Given the description of an element on the screen output the (x, y) to click on. 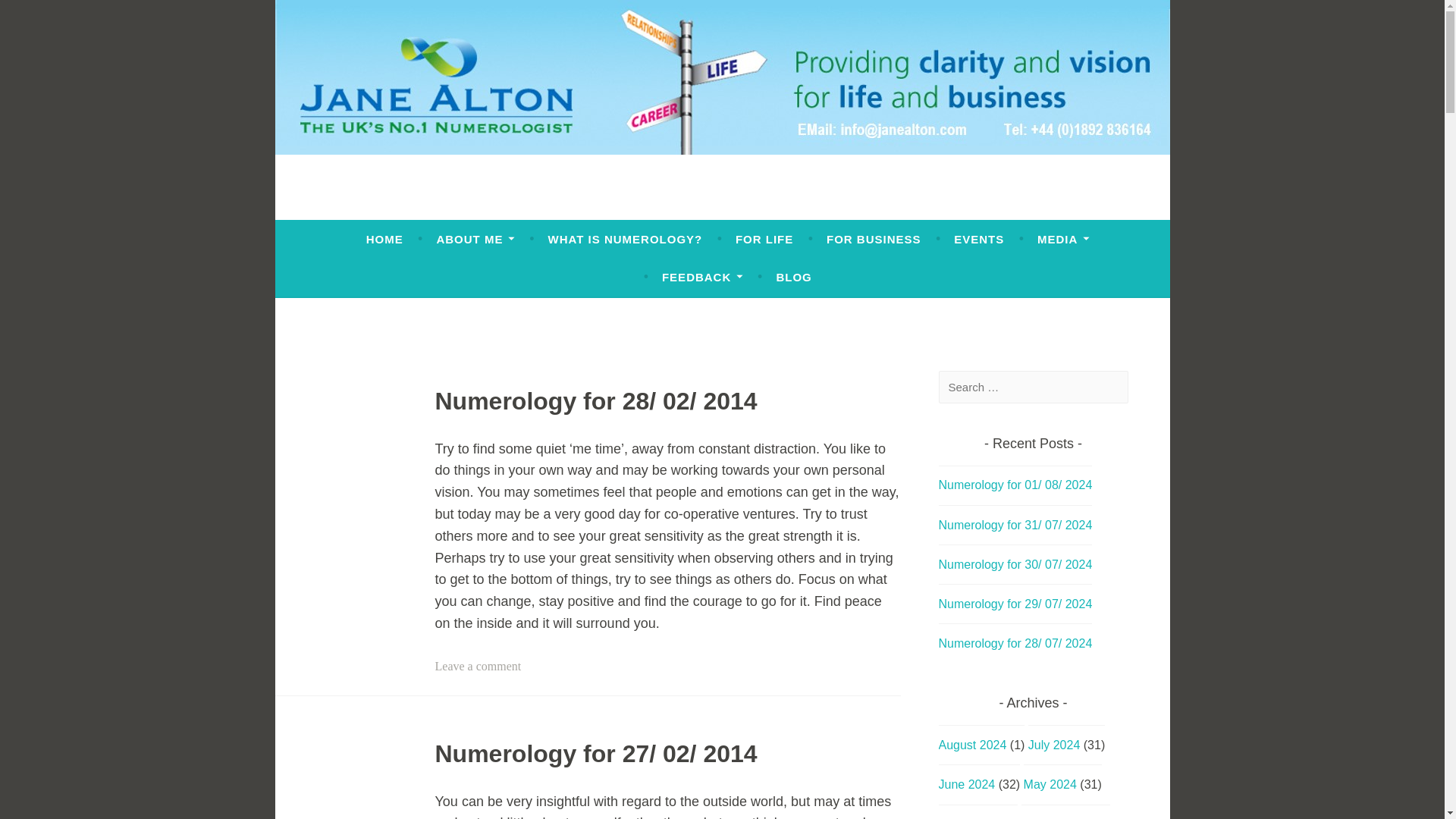
Leave a comment (478, 666)
HOME (384, 239)
EVENTS (978, 239)
ABOUT ME (474, 239)
MEDIA (1062, 239)
FEEDBACK (702, 277)
FOR LIFE (764, 239)
Jane Alton Numerology (487, 206)
BLOG (793, 277)
WHAT IS NUMEROLOGY? (625, 239)
FOR BUSINESS (874, 239)
